Given the description of an element on the screen output the (x, y) to click on. 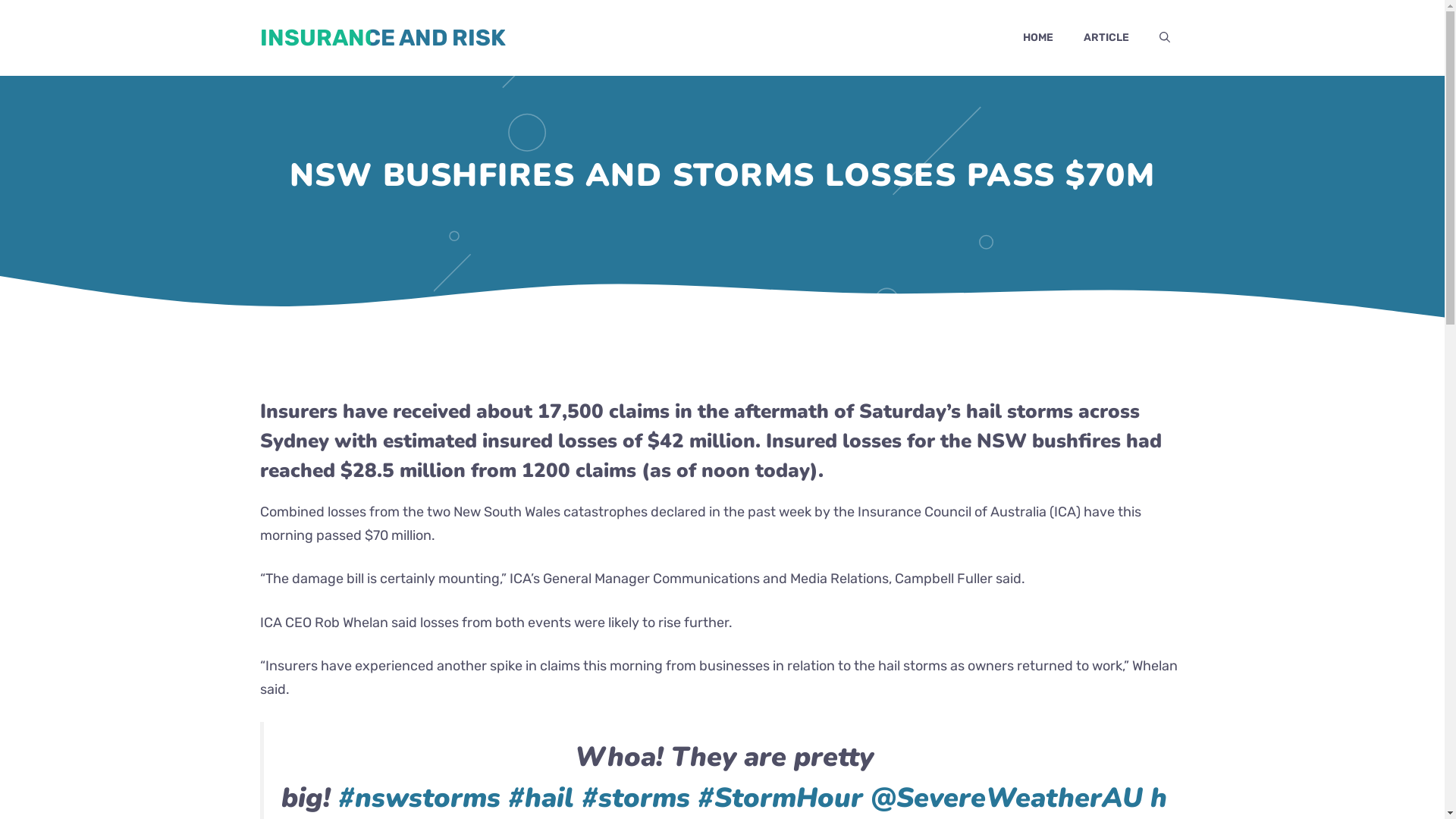
#storms Element type: text (635, 797)
#hail Element type: text (541, 797)
ARTICLE Element type: text (1105, 37)
INSURANCE AND RISK Element type: text (382, 37)
HOME Element type: text (1037, 37)
#nswstorms Element type: text (419, 797)
#StormHour Element type: text (779, 797)
@SevereWeatherAU Element type: text (1006, 797)
